Given the description of an element on the screen output the (x, y) to click on. 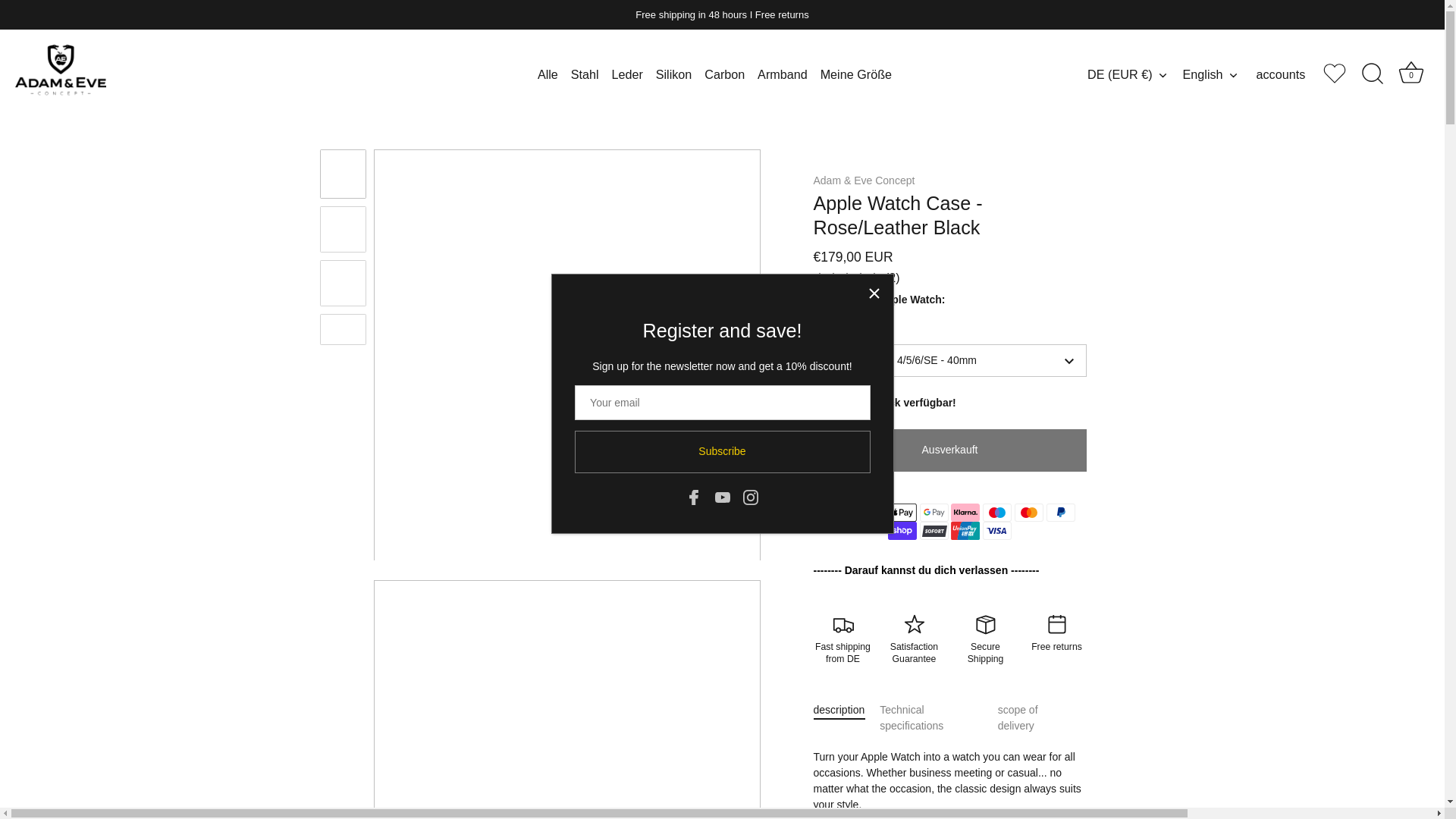
Maestro (996, 512)
Alle (547, 74)
Amazon (838, 512)
Free shipping in 48 hours I Free returns (722, 14)
Stahl (585, 74)
Armband (782, 74)
Leder (627, 74)
Google Pay (934, 512)
Apple Pay (902, 512)
Klarna (964, 512)
Basket (1410, 72)
PayPal (1060, 512)
Silikon (673, 74)
Shop Pay (902, 530)
